Given the description of an element on the screen output the (x, y) to click on. 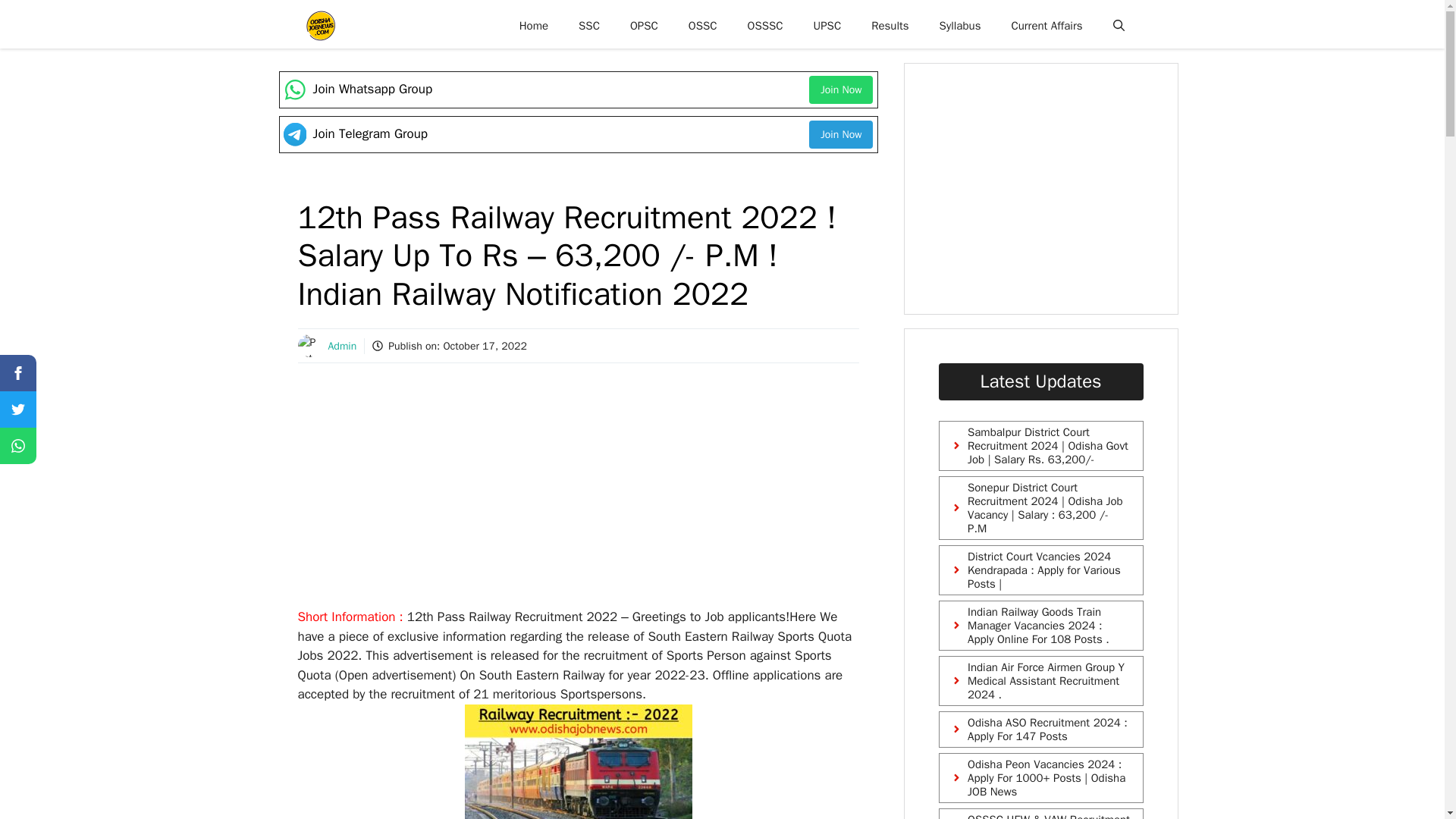
UPSC (827, 25)
OPSC (643, 25)
SSC (588, 25)
Join Now (840, 90)
Advertisement (1059, 188)
Join Now (840, 134)
Results (889, 25)
Current Affairs (1046, 25)
Syllabus (959, 25)
OSSC (702, 25)
Home (533, 25)
Advertisement (577, 495)
Admin (341, 345)
OSSSC (764, 25)
